Given the description of an element on the screen output the (x, y) to click on. 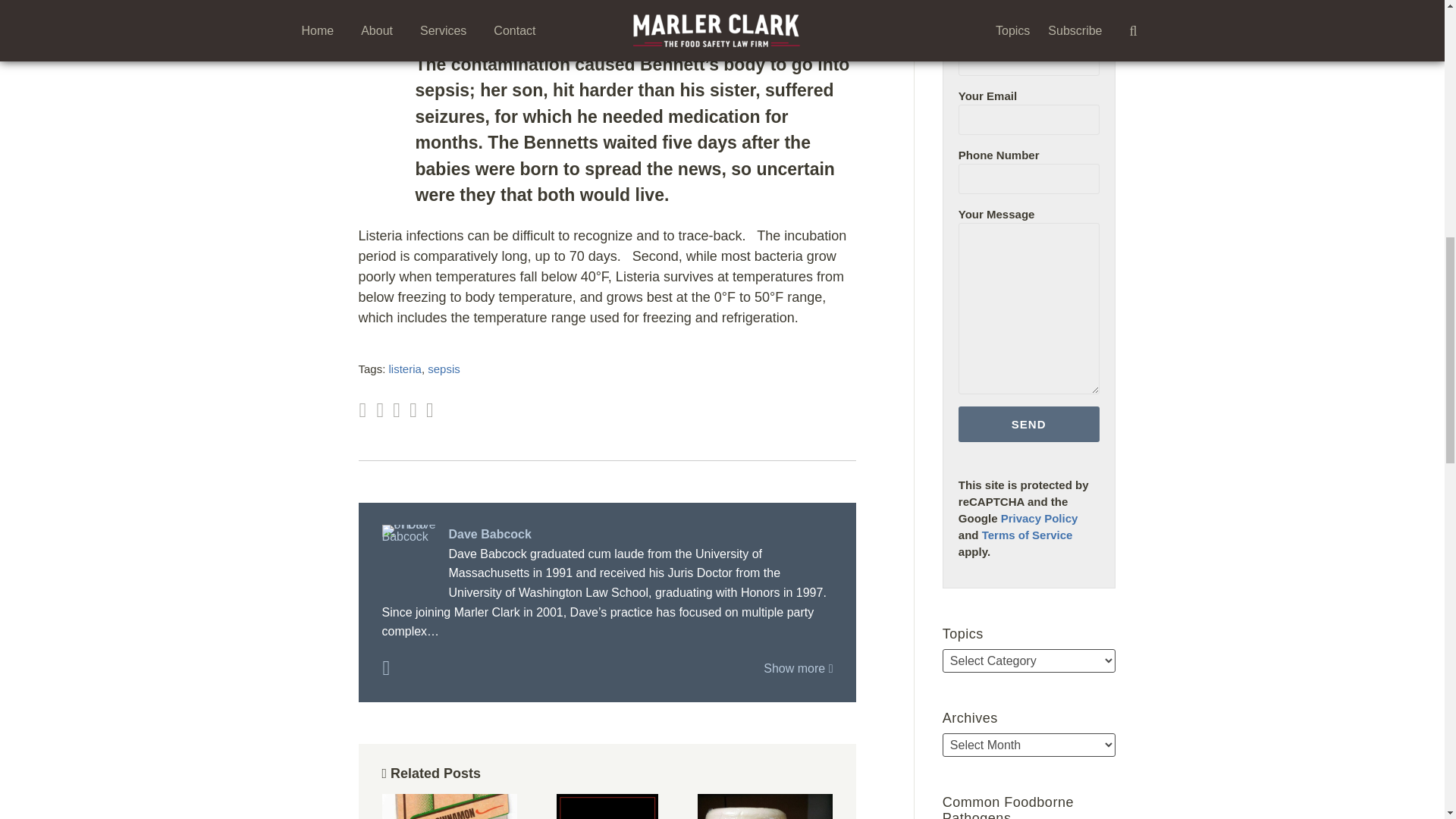
Show more (797, 667)
Email this post (379, 410)
Send (1028, 424)
Like this post (412, 410)
Read more about Dave Babcock (385, 668)
Dave Babcock (606, 534)
Tweet this post (396, 410)
Print: (362, 409)
sepsis (444, 368)
Share this post on LinkedIn (429, 410)
listeria (405, 368)
